Given the description of an element on the screen output the (x, y) to click on. 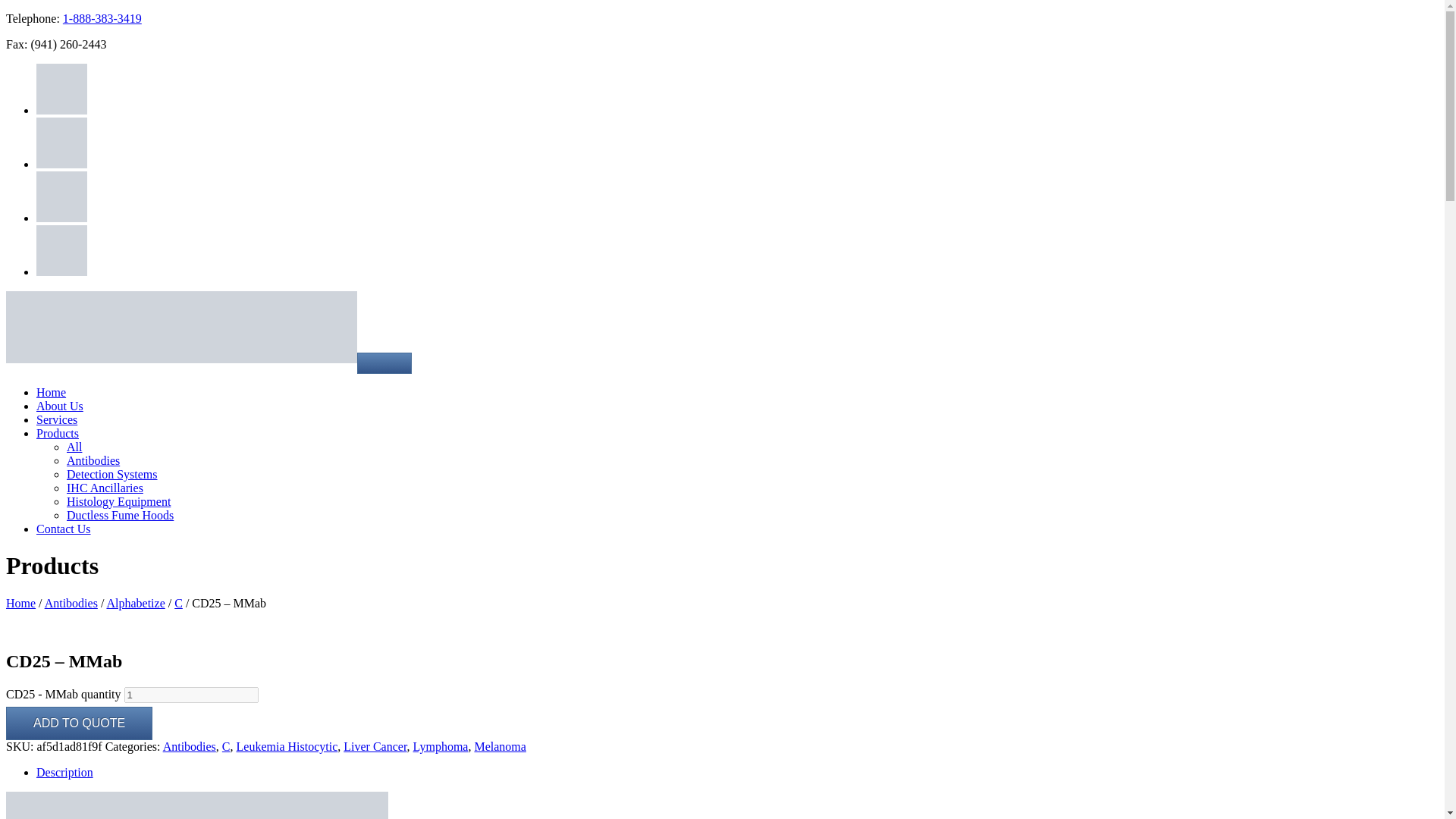
IHC Ancillaries (104, 487)
ADD TO QUOTE (78, 723)
Leukemia Histocytic (286, 746)
Antibodies (71, 603)
IHC Ancillaries (104, 487)
About Us (59, 405)
Detection Systems (111, 473)
Liver Cancer (374, 746)
All (73, 446)
Services (56, 419)
Antibodies (189, 746)
Products (57, 432)
Histology Equipment (118, 501)
Ductless Fume Hoods (119, 514)
Antibodies (92, 460)
